Given the description of an element on the screen output the (x, y) to click on. 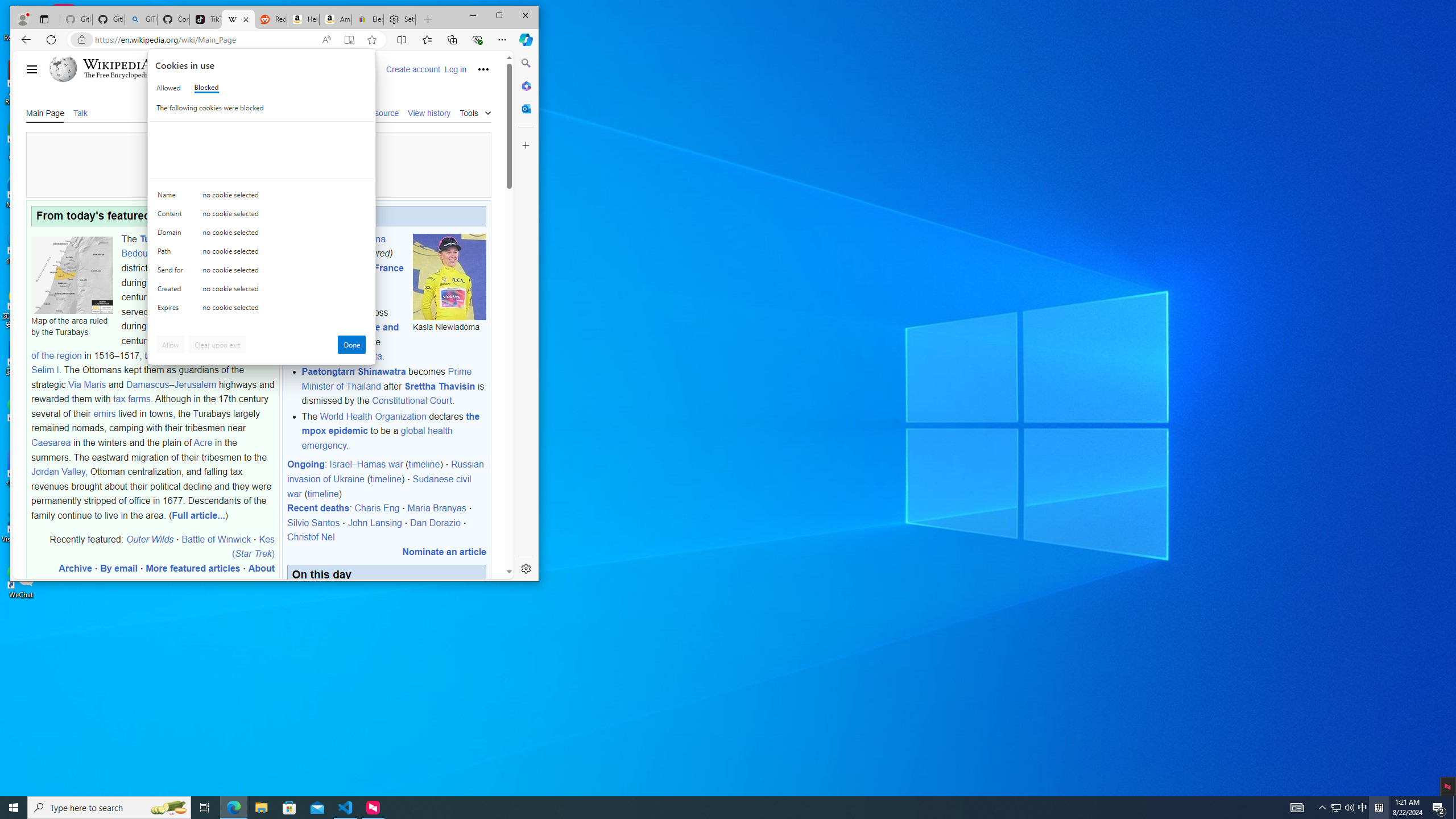
Type here to search (108, 807)
Allowed (168, 87)
Start (13, 807)
Tray Input Indicator - Chinese (Simplified, China) (1378, 807)
Expires (172, 310)
Allow (169, 344)
